Given the description of an element on the screen output the (x, y) to click on. 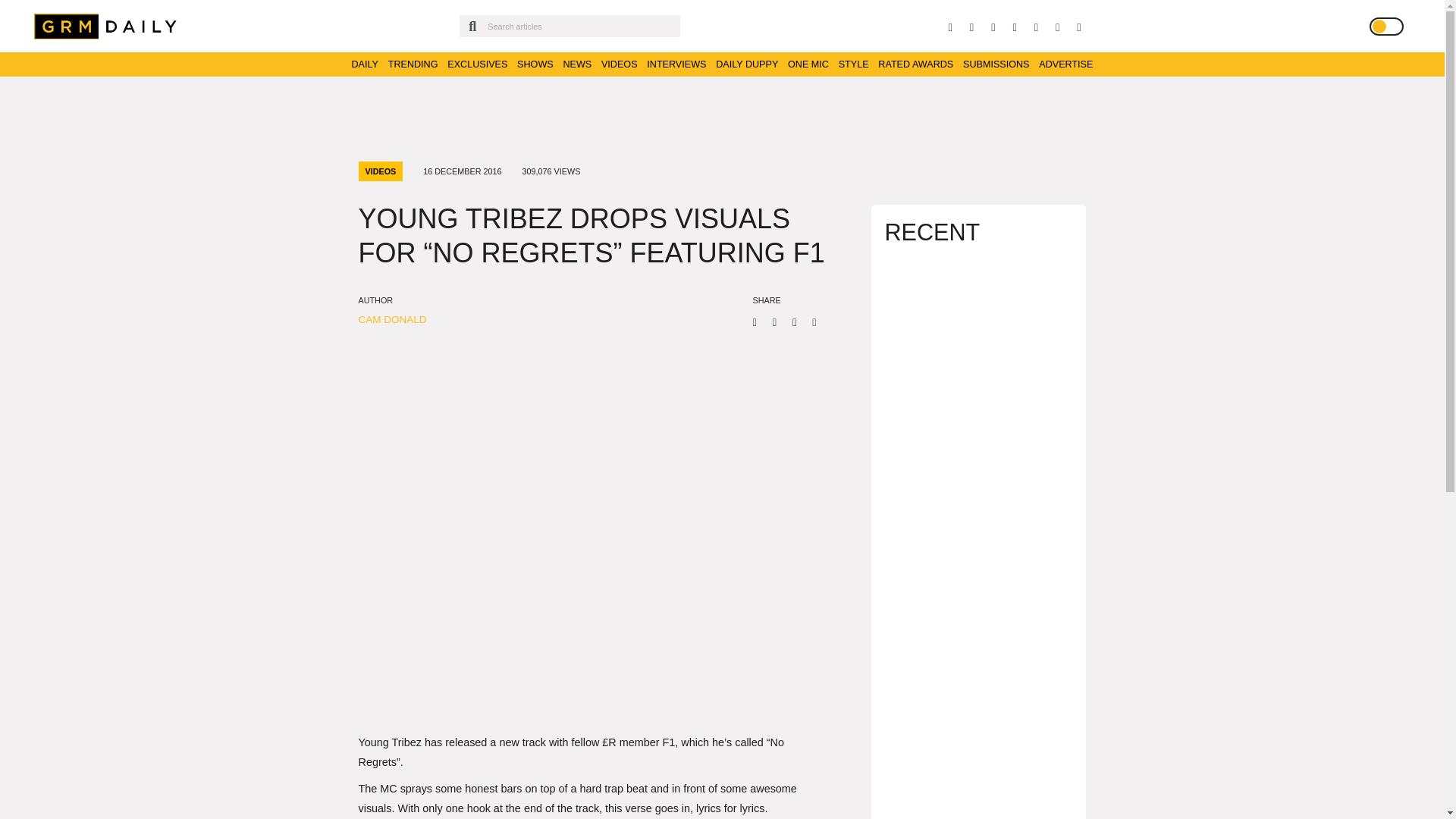
ADVERTISE (1066, 63)
DAILY DUPPY (746, 63)
TRENDING (413, 63)
RATED AWARDS (915, 63)
EXCLUSIVES (476, 63)
Cam Donald (392, 319)
ONE MIC (807, 63)
STYLE (853, 63)
SHOWS (534, 63)
DAILY (365, 63)
NEWS (576, 63)
INTERVIEWS (676, 63)
GRM Daily (108, 26)
SUBMISSIONS (995, 63)
